Given the description of an element on the screen output the (x, y) to click on. 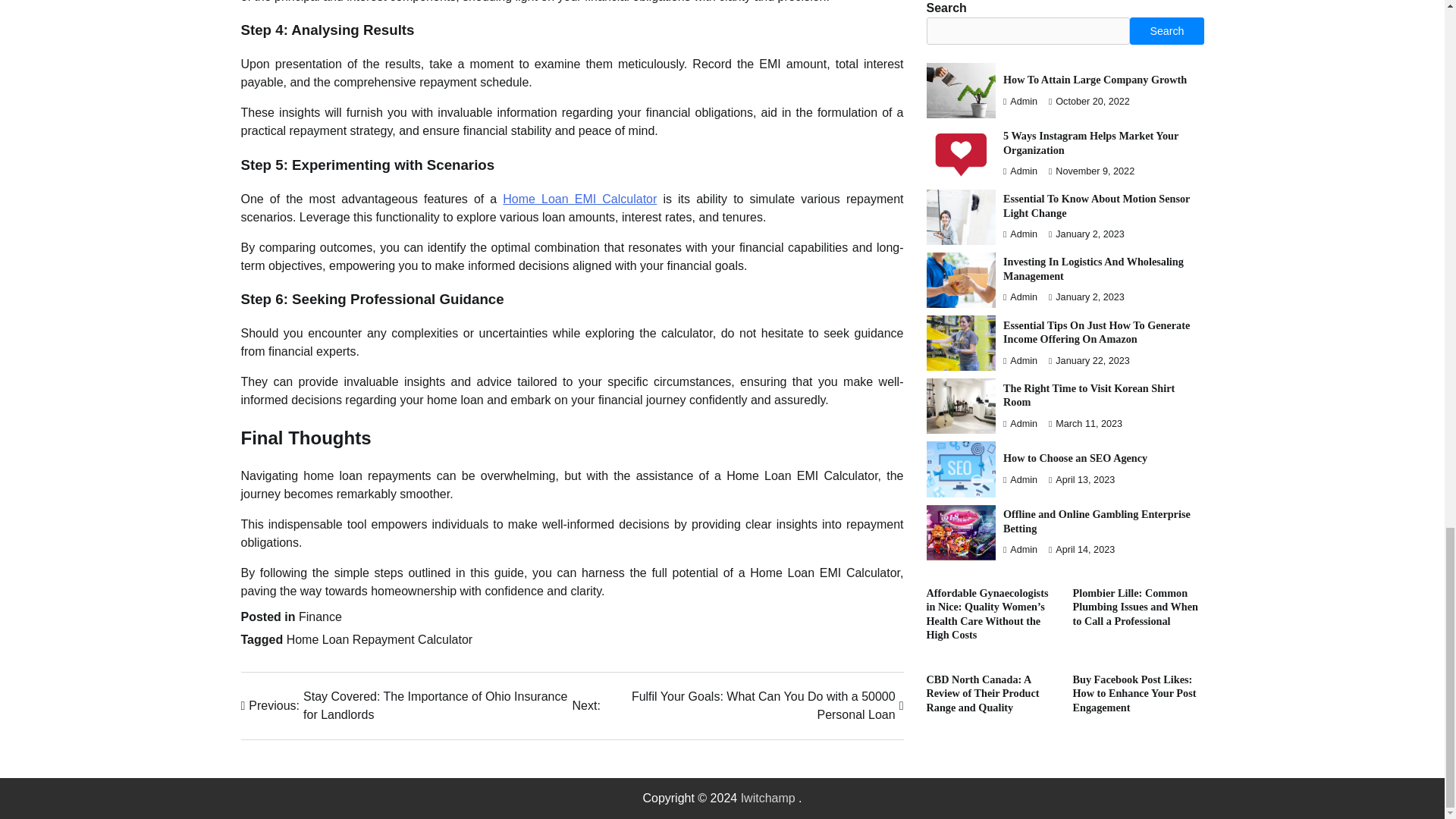
Finance (320, 616)
Home Loan Repayment Calculator (378, 639)
Home Loan EMI Calculator (579, 198)
